Given the description of an element on the screen output the (x, y) to click on. 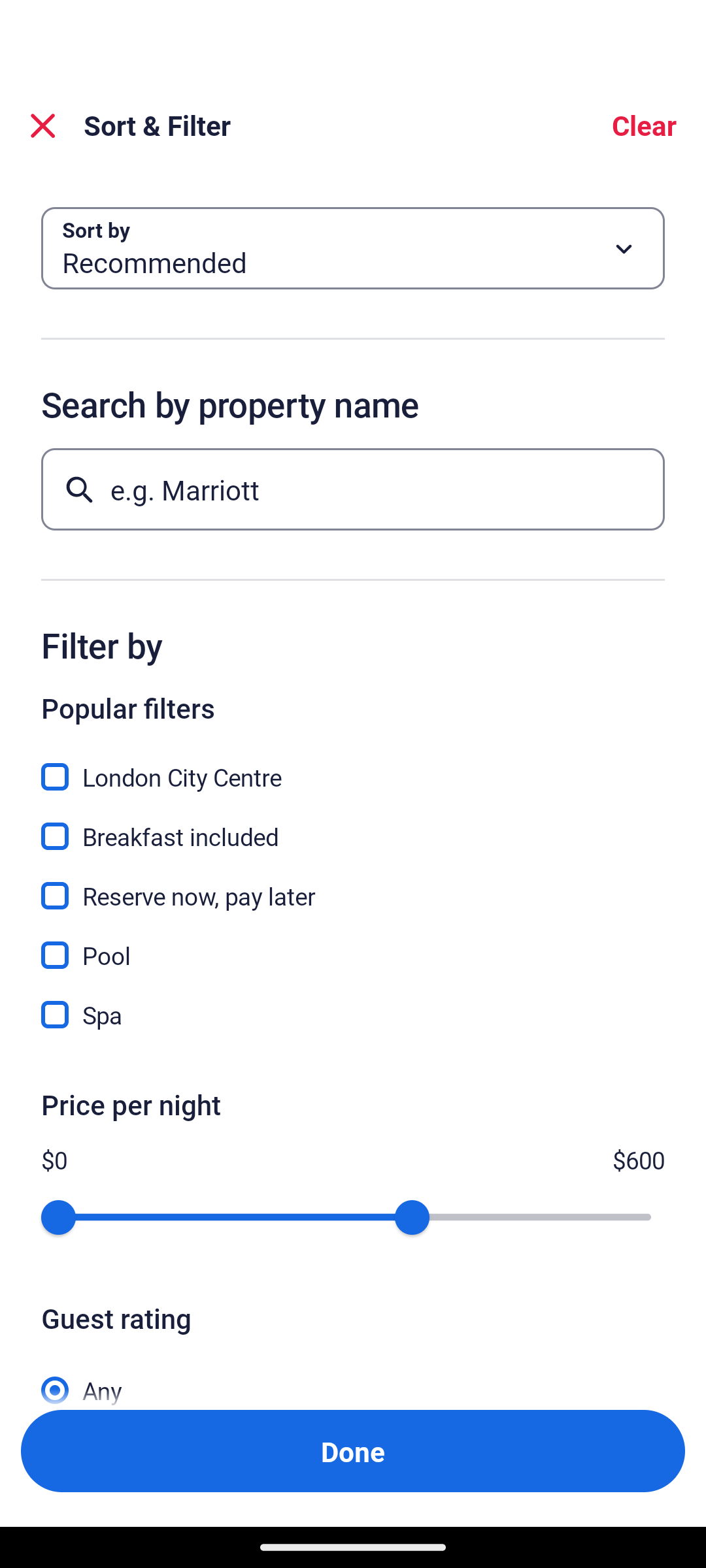
Clear (643, 125)
Close Sort and Filter (43, 125)
Sort by Button Recommended (352, 248)
e.g. Marriott Button (352, 488)
London City Centre, London City Centre (352, 765)
Breakfast included, Breakfast included (352, 824)
Reserve now, pay later, Reserve now, pay later (352, 884)
Pool, Pool (352, 943)
Spa, Spa (352, 1014)
Apply and close Sort and Filter Done (352, 1450)
